Given the description of an element on the screen output the (x, y) to click on. 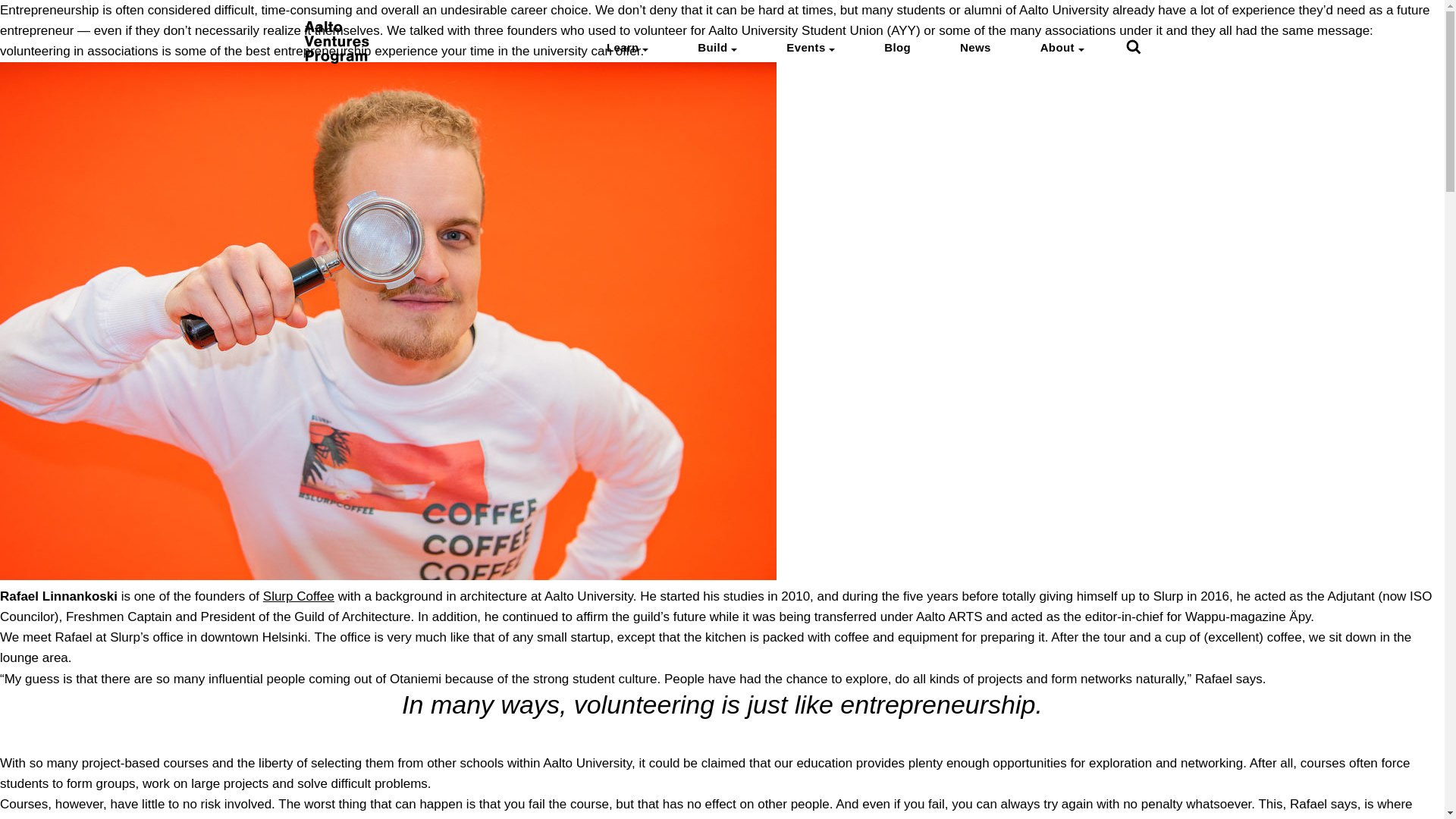
Build (711, 47)
AVP Logo (335, 59)
Learn (623, 47)
